Given the description of an element on the screen output the (x, y) to click on. 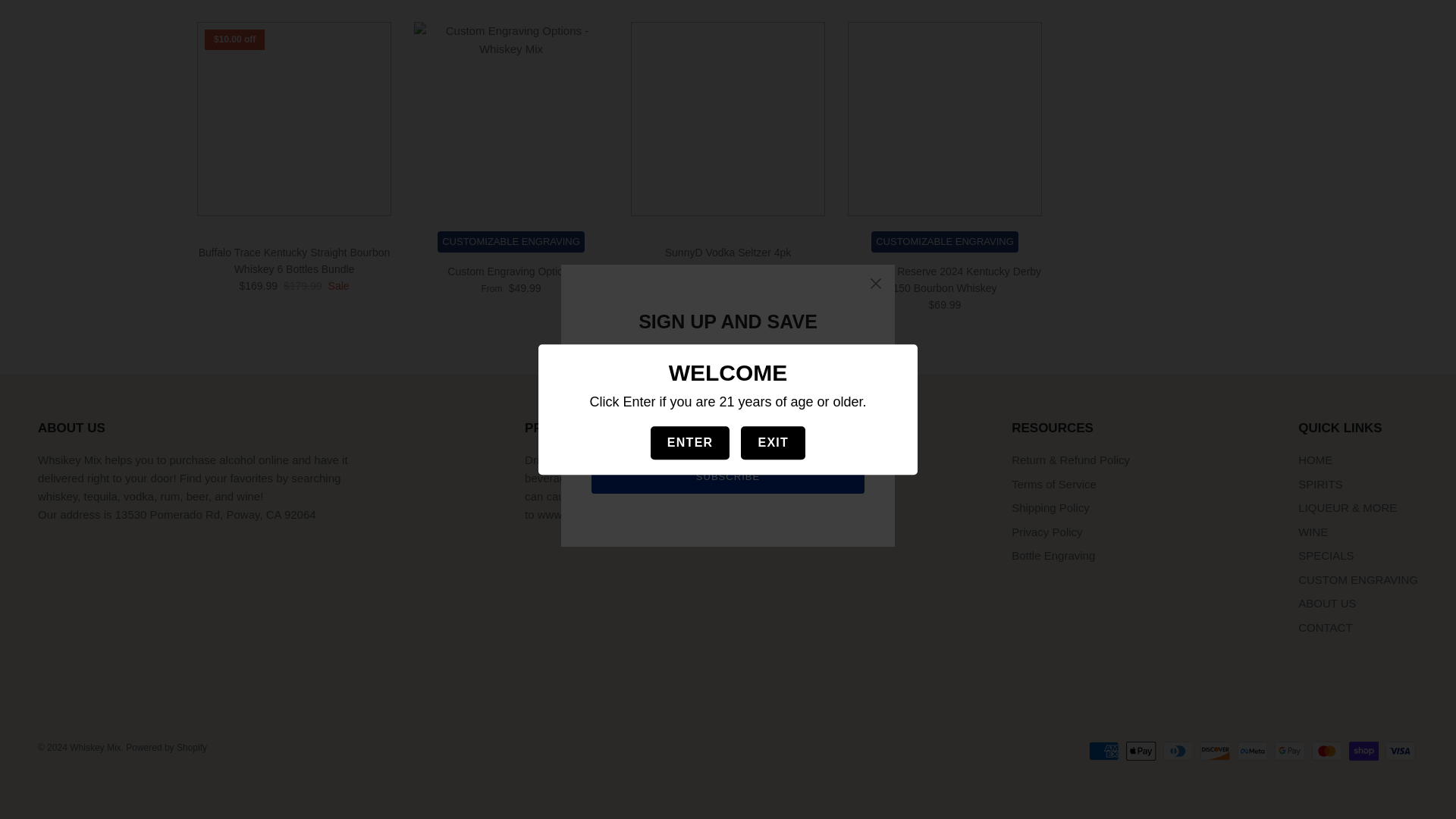
Meta Pay (1252, 751)
Visa (1400, 751)
Diners Club (1178, 751)
Apple Pay (1140, 751)
Discover (1214, 751)
Google Pay (1289, 751)
American Express (1104, 751)
Shop Pay (1363, 751)
Mastercard (1326, 751)
